Given the description of an element on the screen output the (x, y) to click on. 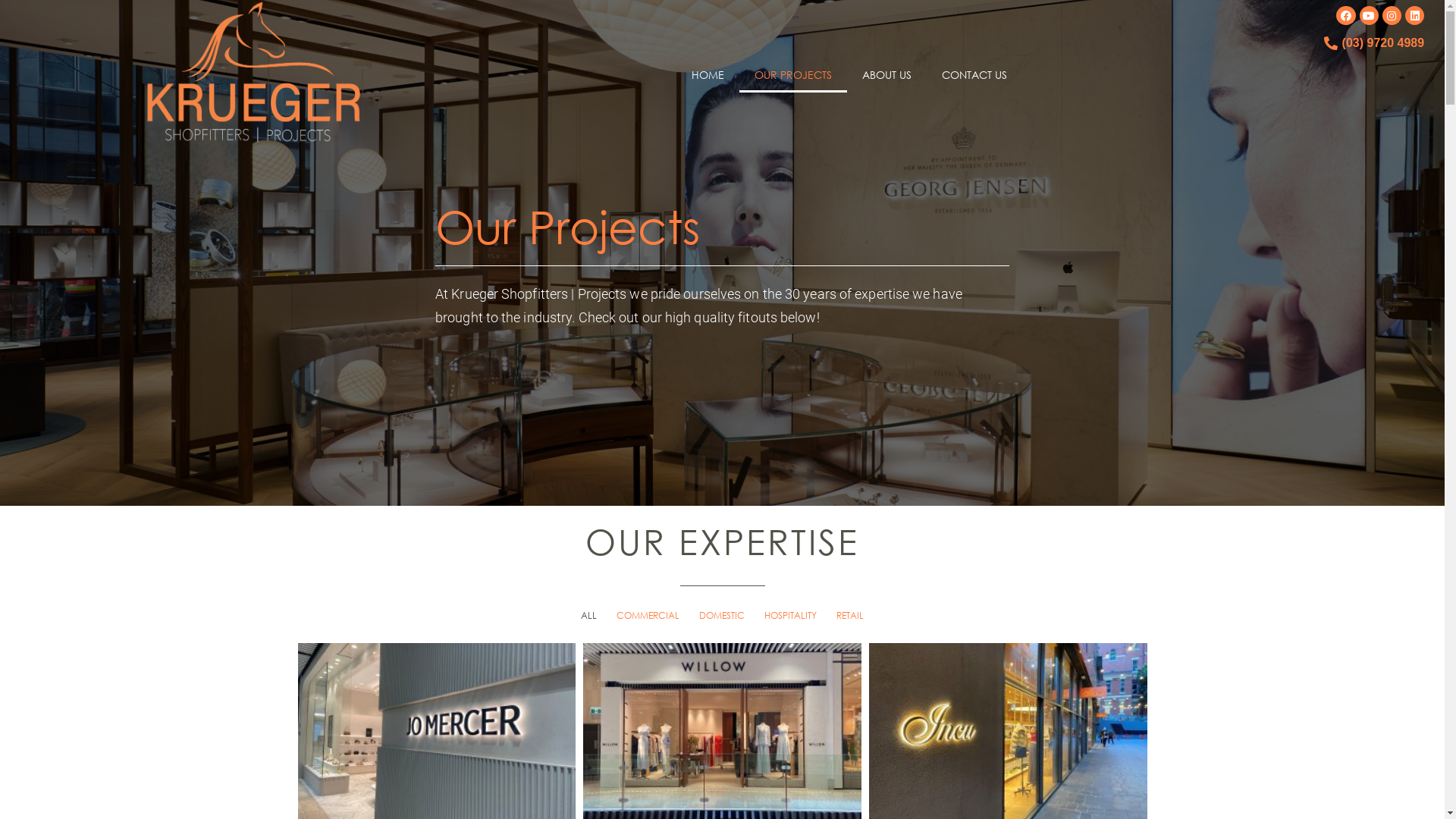
CONTACT US Element type: text (974, 74)
(03) 9720 4989 Element type: text (1383, 42)
HOME Element type: text (707, 74)
ABOUT US Element type: text (886, 74)
OUR PROJECTS Element type: text (793, 74)
